Given the description of an element on the screen output the (x, y) to click on. 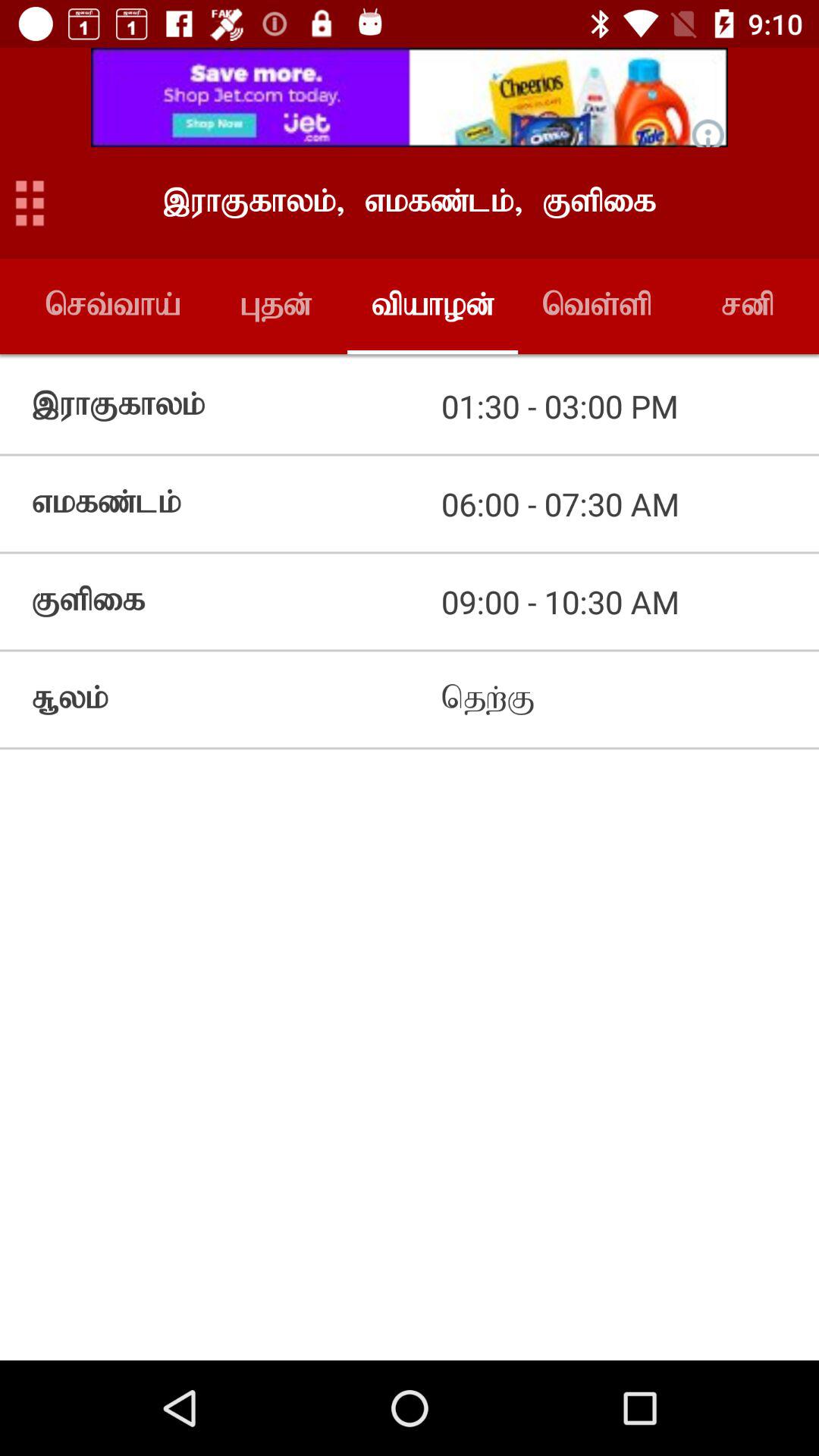
advertisement (409, 97)
